Given the description of an element on the screen output the (x, y) to click on. 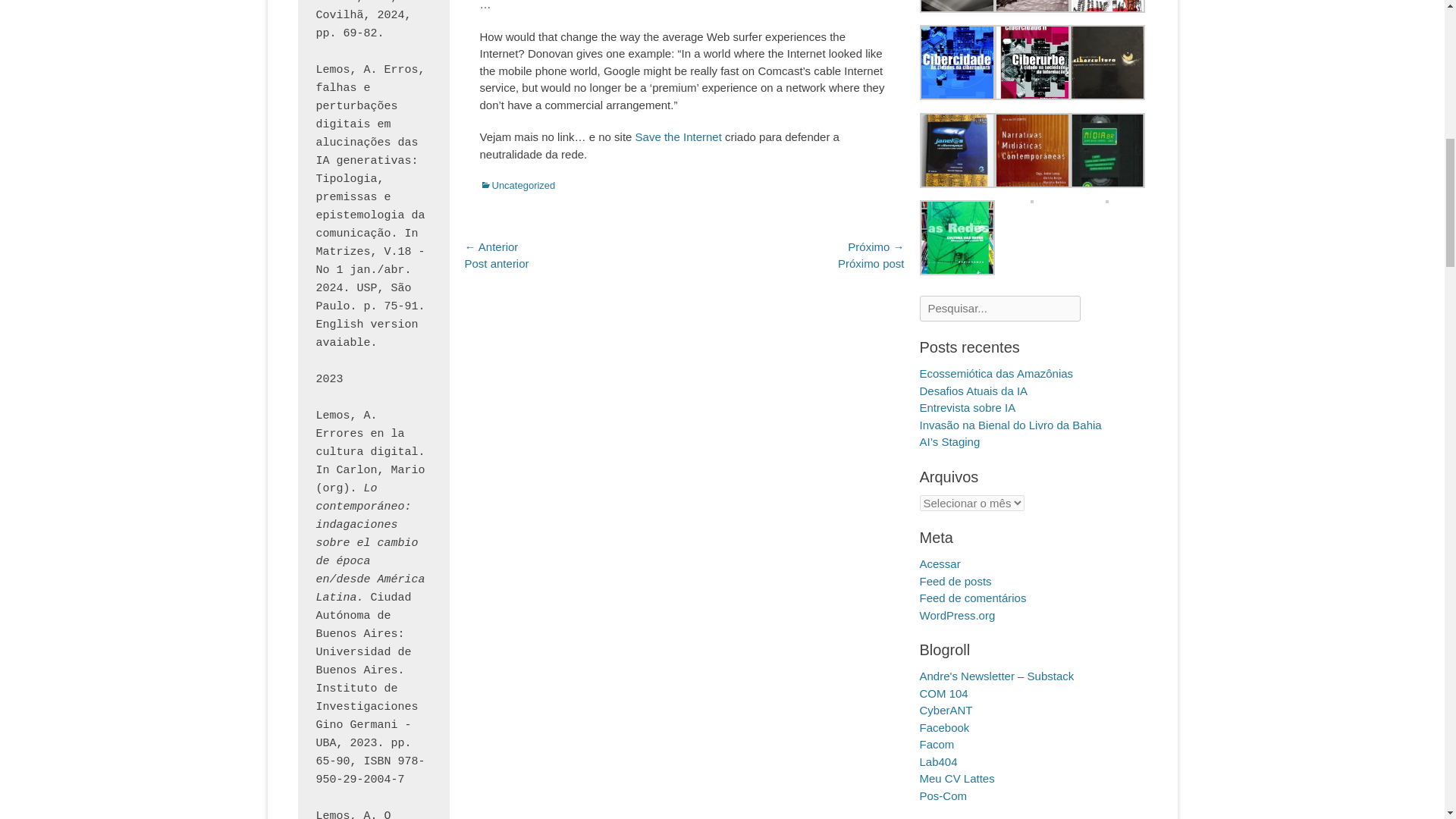
Curriculum Lattes (956, 778)
Save the Internet (678, 136)
Pesquisar por: (999, 308)
Uncategorized (516, 184)
